Given the description of an element on the screen output the (x, y) to click on. 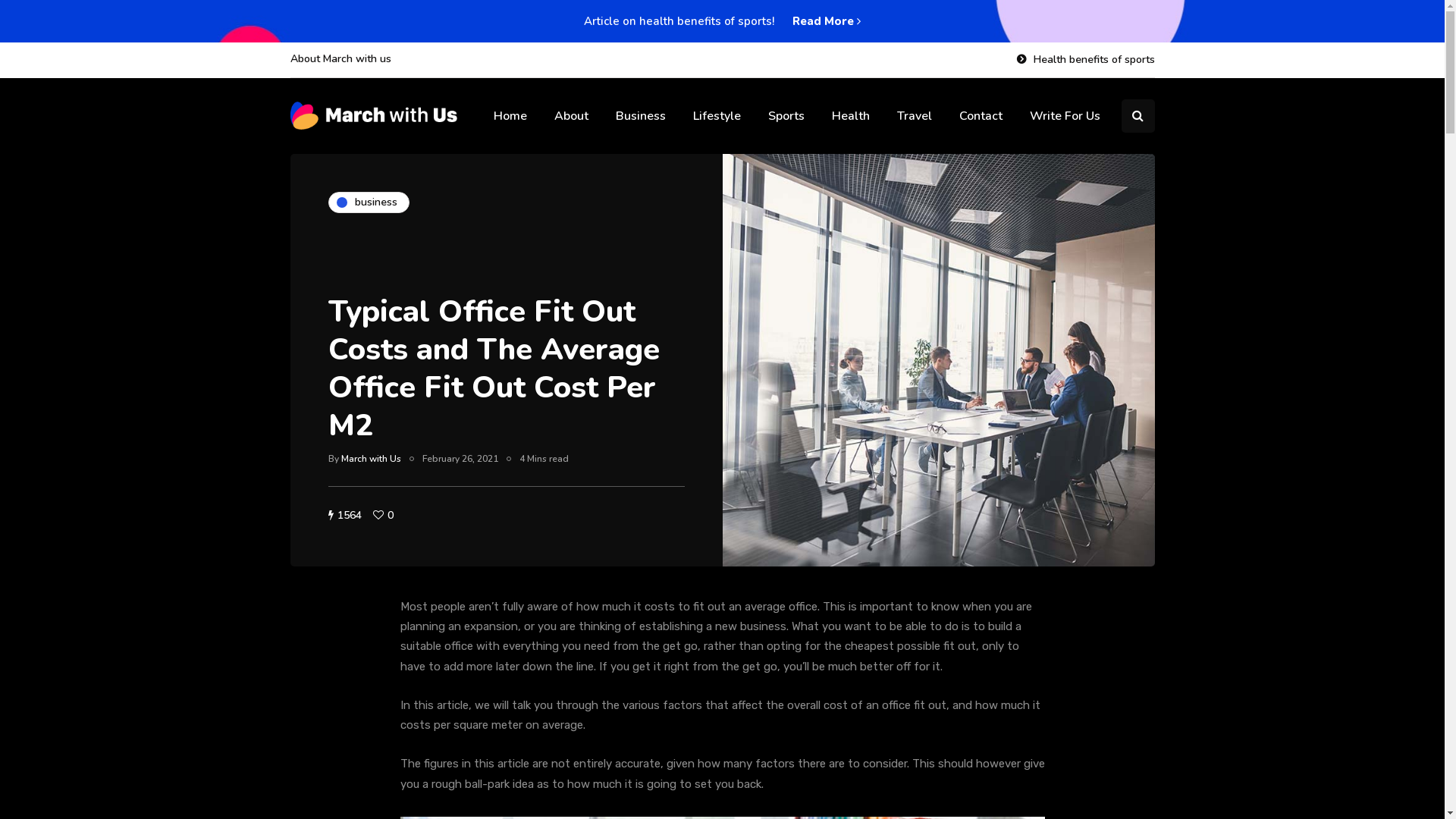
Home Element type: text (509, 115)
Business Element type: text (640, 115)
Contact Element type: text (979, 115)
Read More Element type: text (826, 20)
Health Element type: text (849, 115)
Health benefits of sports Element type: text (1081, 59)
About March with us Element type: text (343, 59)
Sports Element type: text (785, 115)
Travel Element type: text (913, 115)
March with Us Element type: text (371, 458)
About Element type: text (570, 115)
business Element type: text (367, 202)
Lifestyle Element type: text (716, 115)
Write For Us Element type: text (1064, 115)
